Given the description of an element on the screen output the (x, y) to click on. 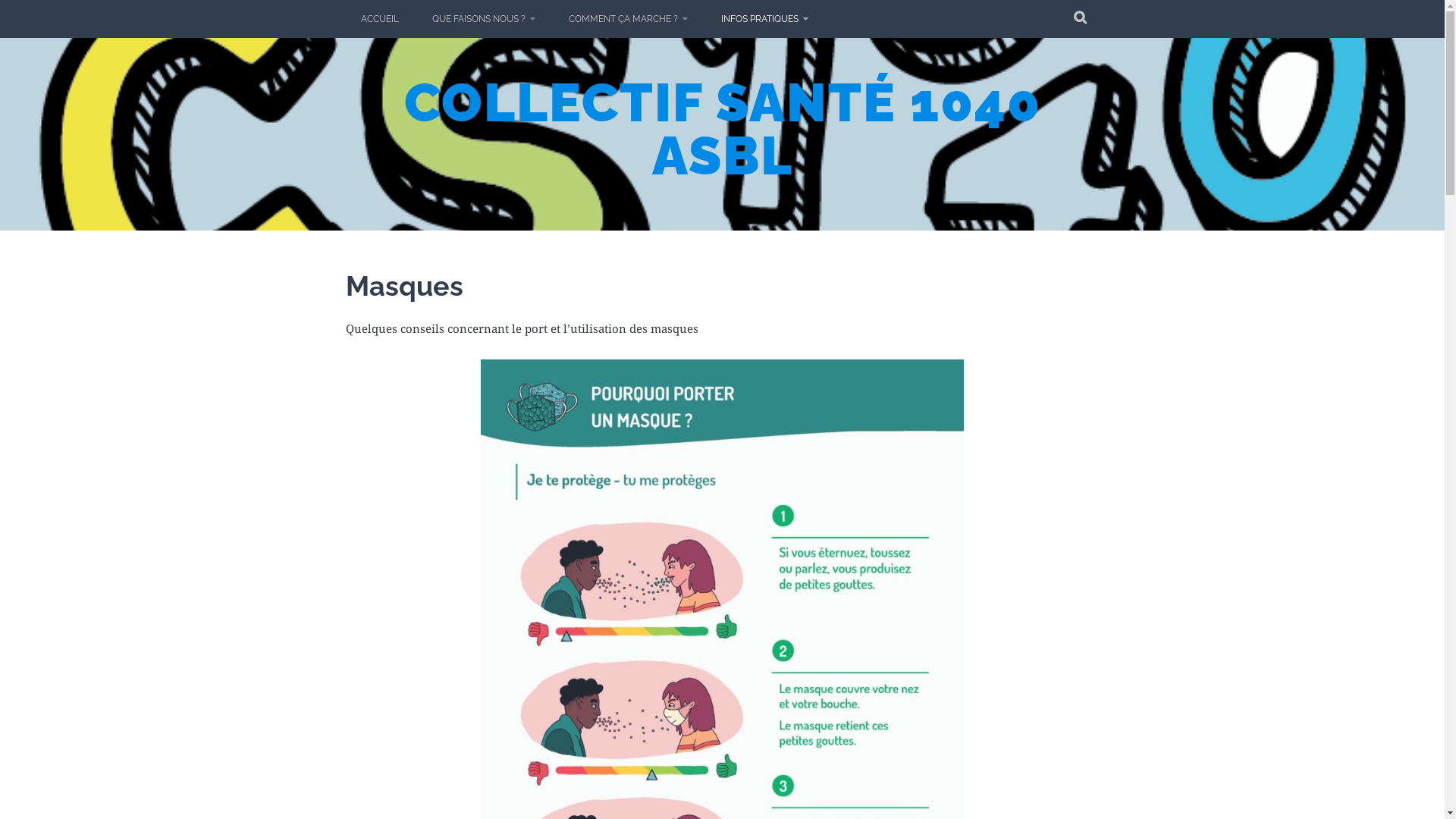
SEARCH Element type: text (1079, 18)
QUE FAISONS NOUS ? Element type: text (483, 18)
INFOS PRATIQUES Element type: text (763, 18)
Skip to content Element type: text (0, 0)
ACCUEIL Element type: text (379, 18)
